Given the description of an element on the screen output the (x, y) to click on. 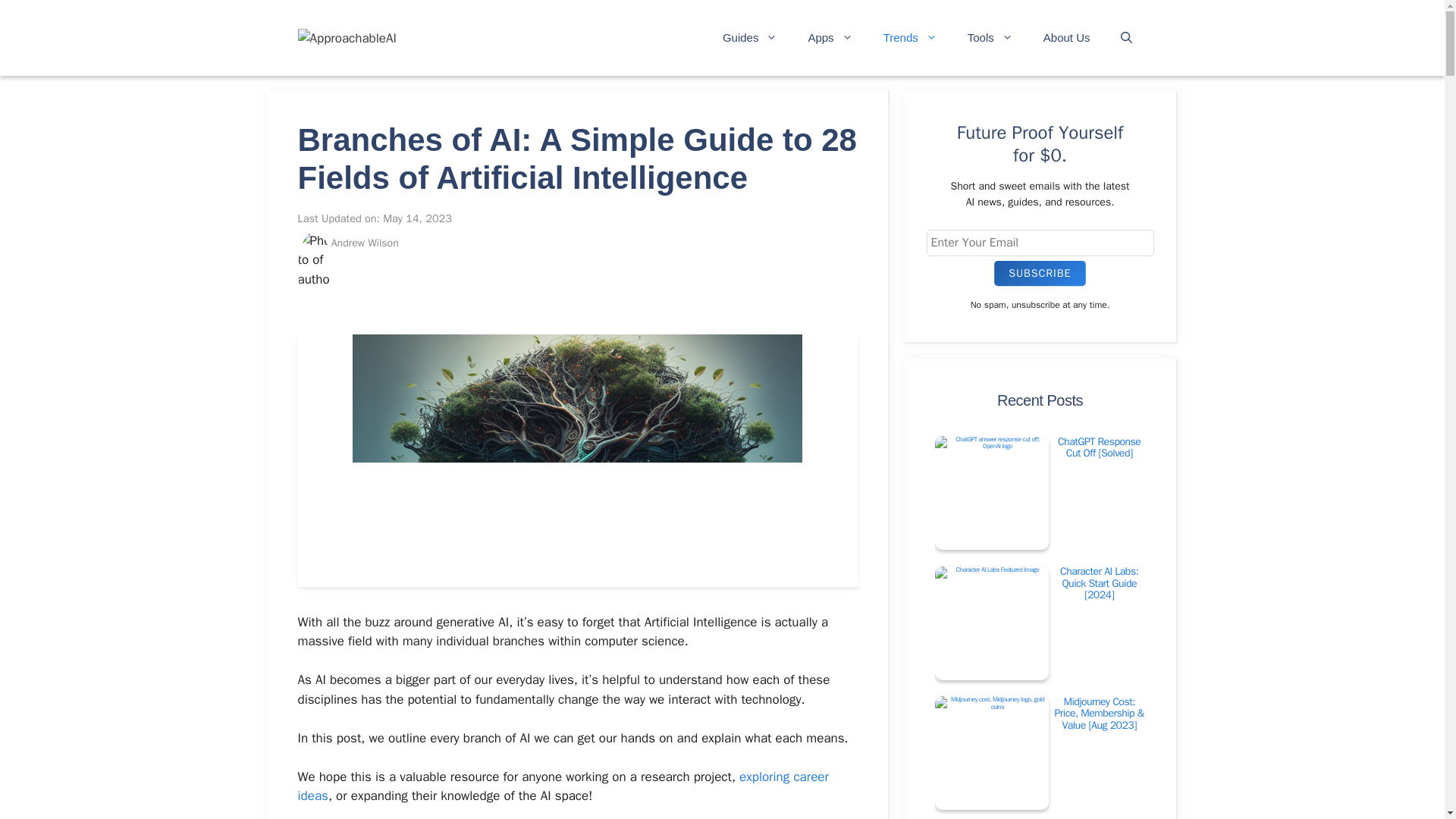
Andrew Wilson (364, 242)
About Us (1066, 37)
Apps (829, 37)
Guides (750, 37)
Tools (989, 37)
Subscribe (1042, 273)
exploring career ideas (562, 786)
Trends (909, 37)
